Given the description of an element on the screen output the (x, y) to click on. 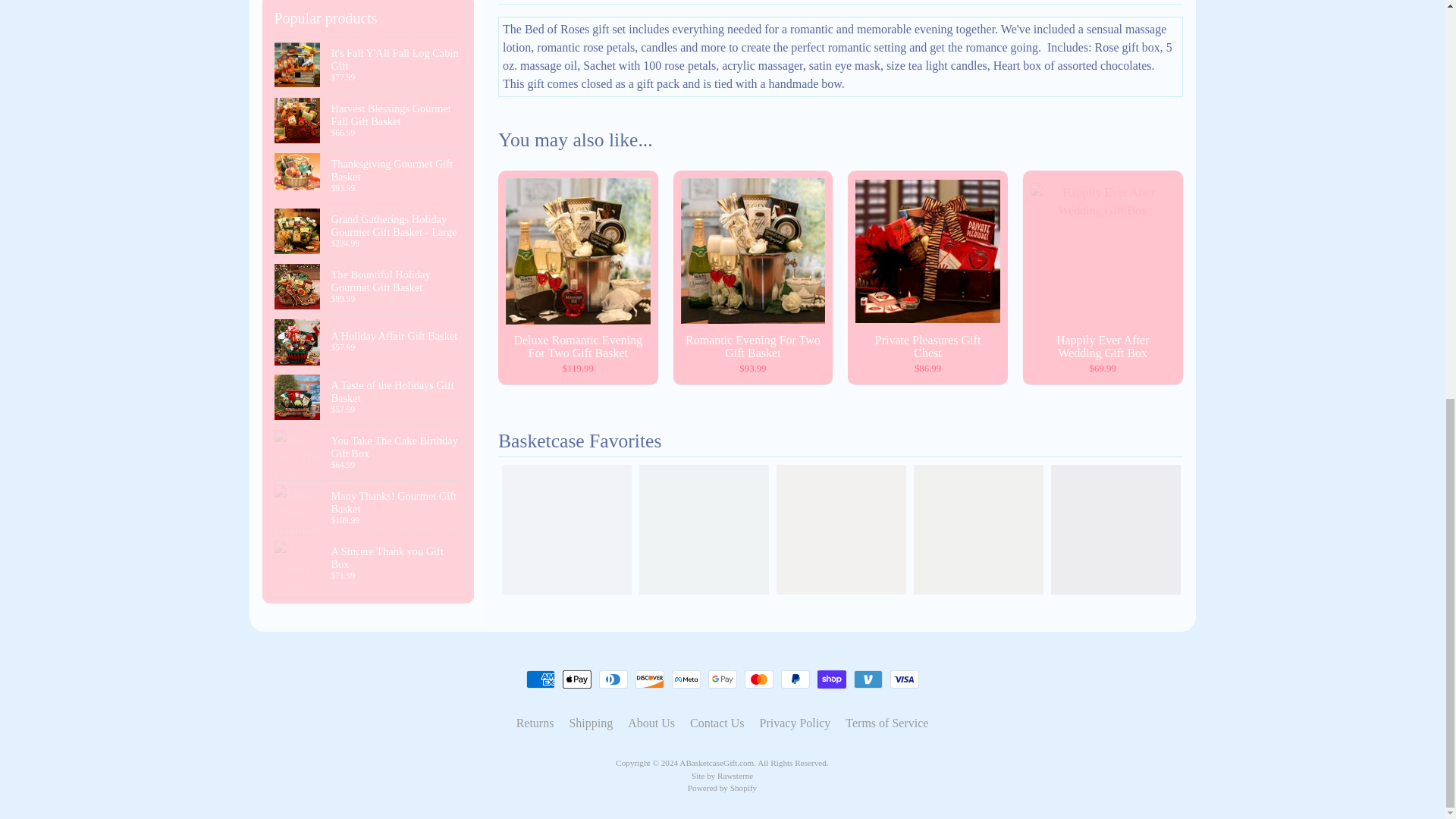
Thanksgiving Gourmet Gift Basket (369, 175)
Apple Pay (576, 679)
Many Thanks! Gourmet Gift Basket (369, 507)
A Holiday Affair Gift Basket (369, 341)
Shop Pay (830, 679)
Visa (903, 679)
Venmo (867, 679)
American Express (539, 679)
Harvest Blessings Gourmet Fall Gift Basket (369, 120)
A Taste of the Holidays Gift Basket (369, 397)
You Take The Cake Birthday Gift Box (369, 452)
Discover (648, 679)
Mastercard (758, 679)
Google Pay (721, 679)
A Sincere Thank you Gift Box (369, 563)
